Given the description of an element on the screen output the (x, y) to click on. 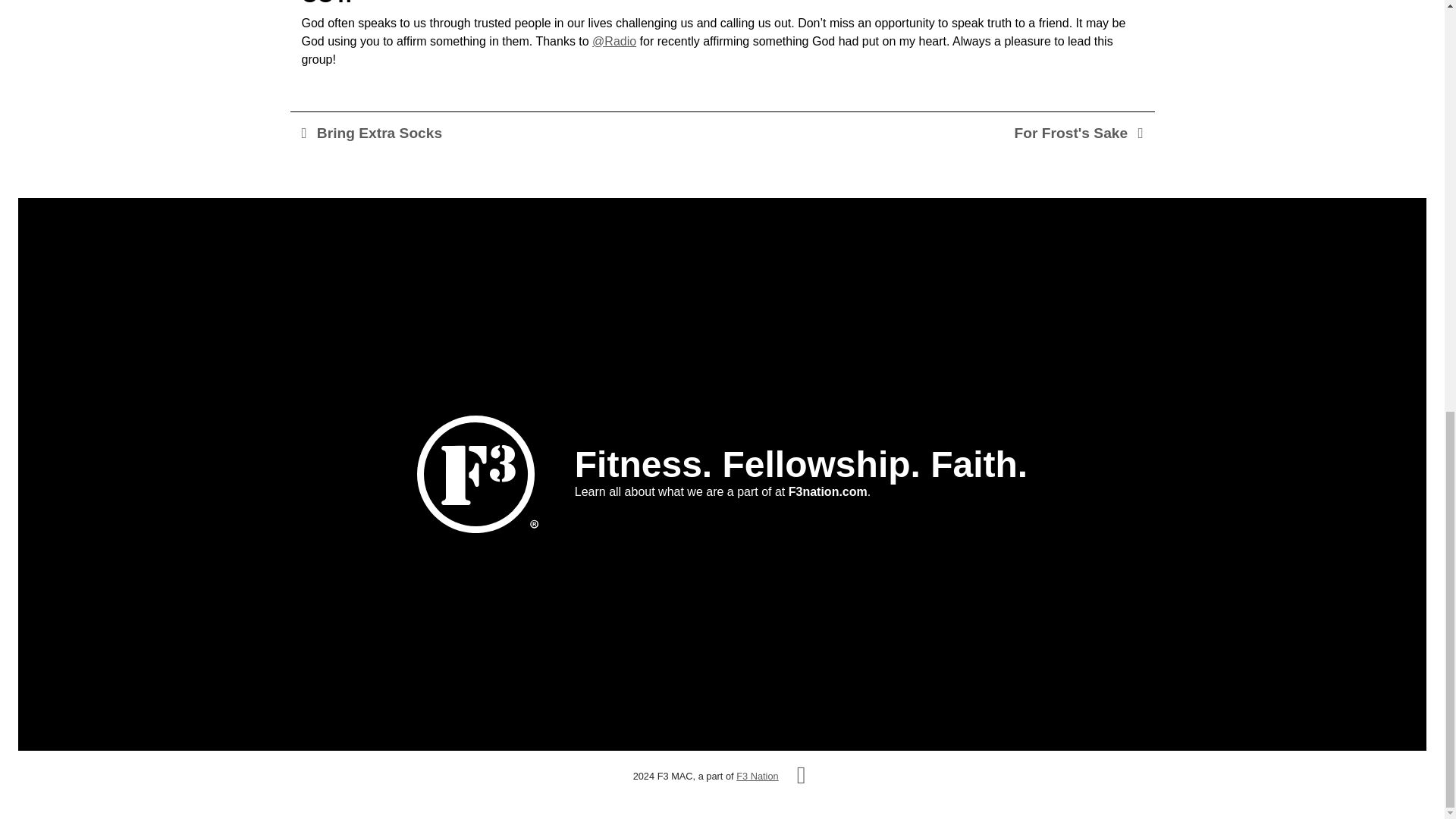
Bring Extra Socks (371, 132)
Bring Extra Socks (371, 132)
For Frost's Sake (1078, 132)
For Frost's Sake (1078, 132)
F3 Nation (756, 776)
Twitter (801, 775)
